Given the description of an element on the screen output the (x, y) to click on. 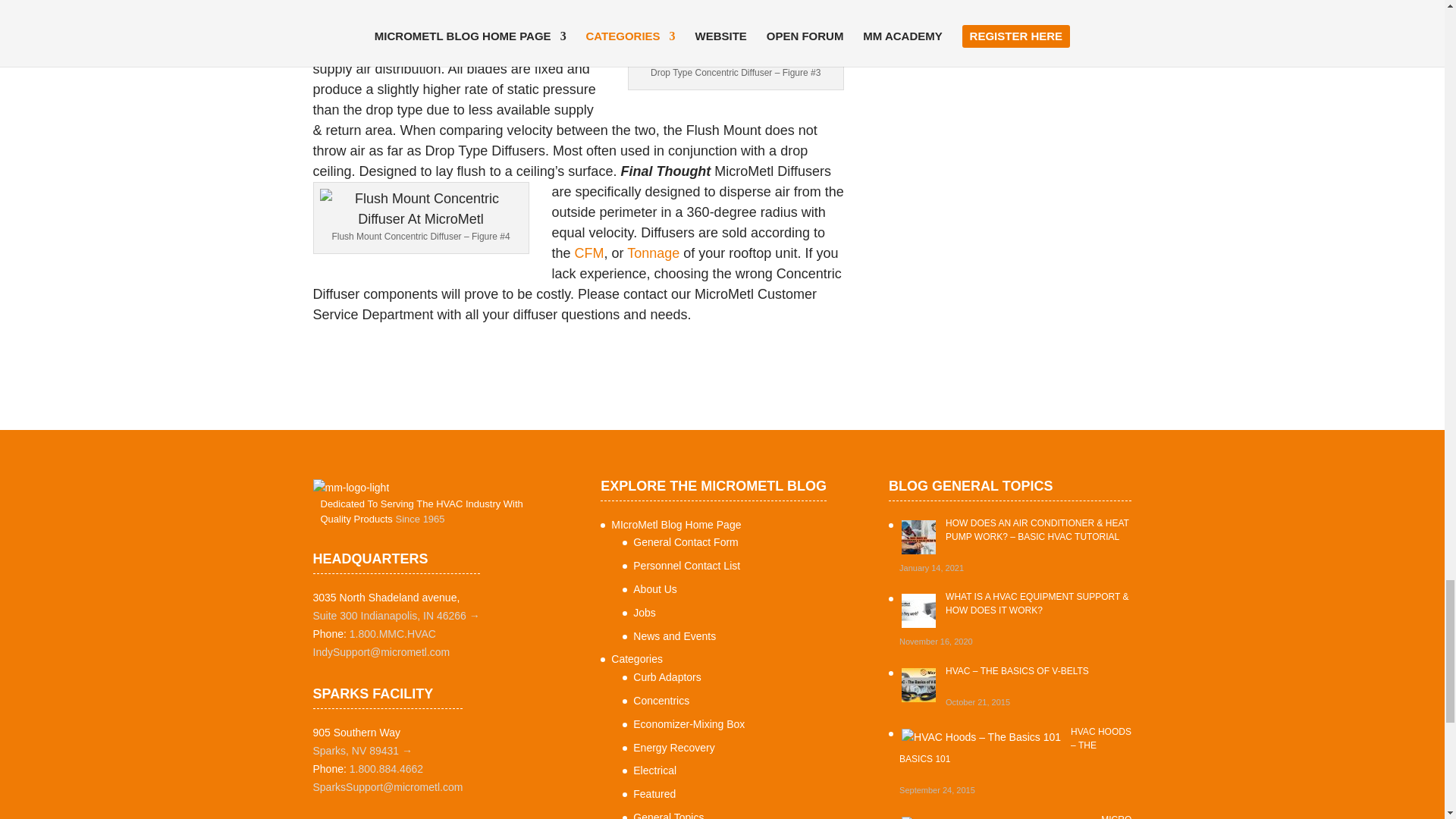
HVAC Tonnage Simplified, Explained, And Defined! (654, 253)
CFM (589, 253)
HVAC Tonnage Simplified, Explained, And Defined! (589, 253)
Tonnage (654, 253)
